Given the description of an element on the screen output the (x, y) to click on. 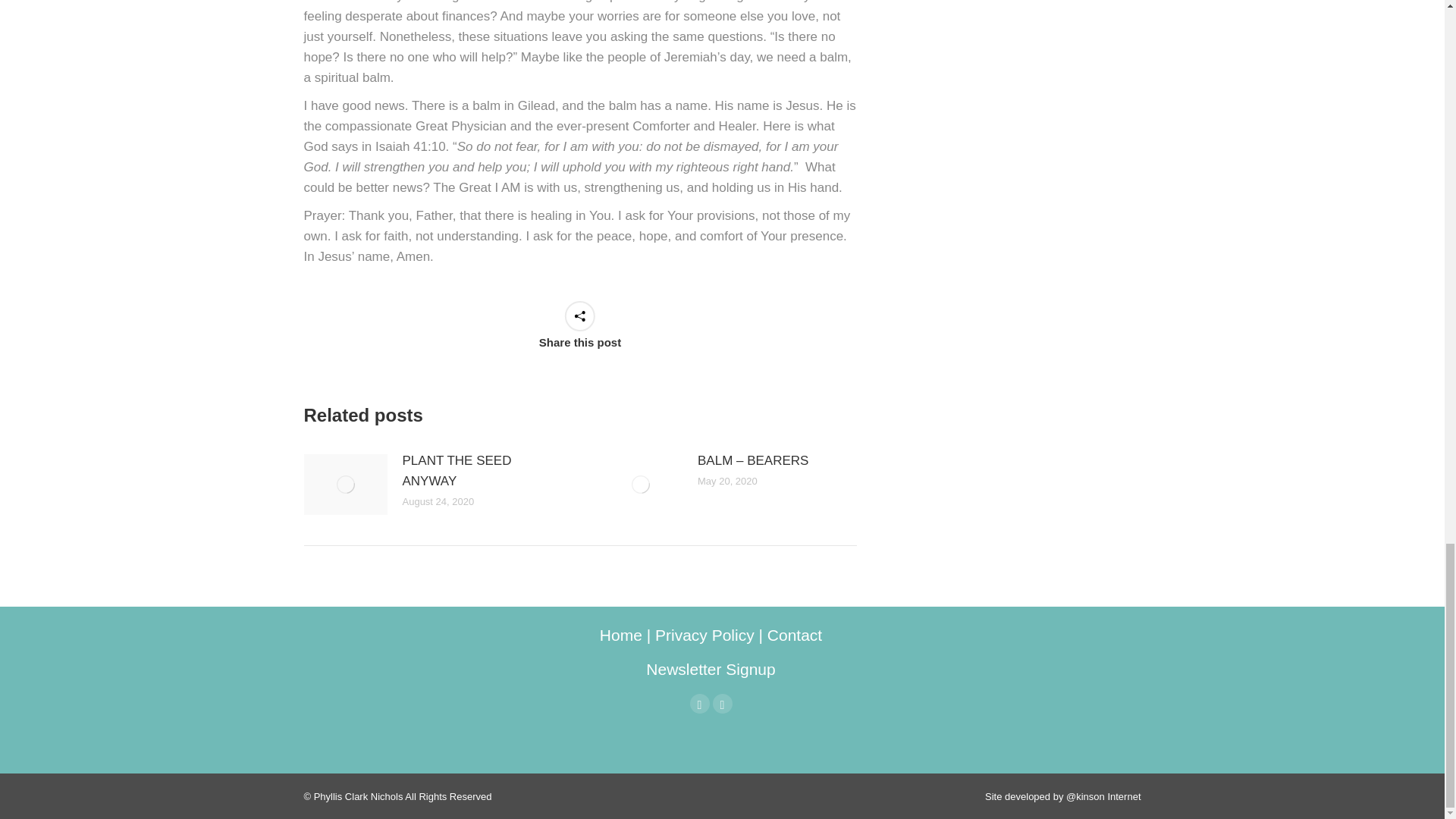
Facebook page opens in new window (700, 703)
X page opens in new window (722, 703)
